Given the description of an element on the screen output the (x, y) to click on. 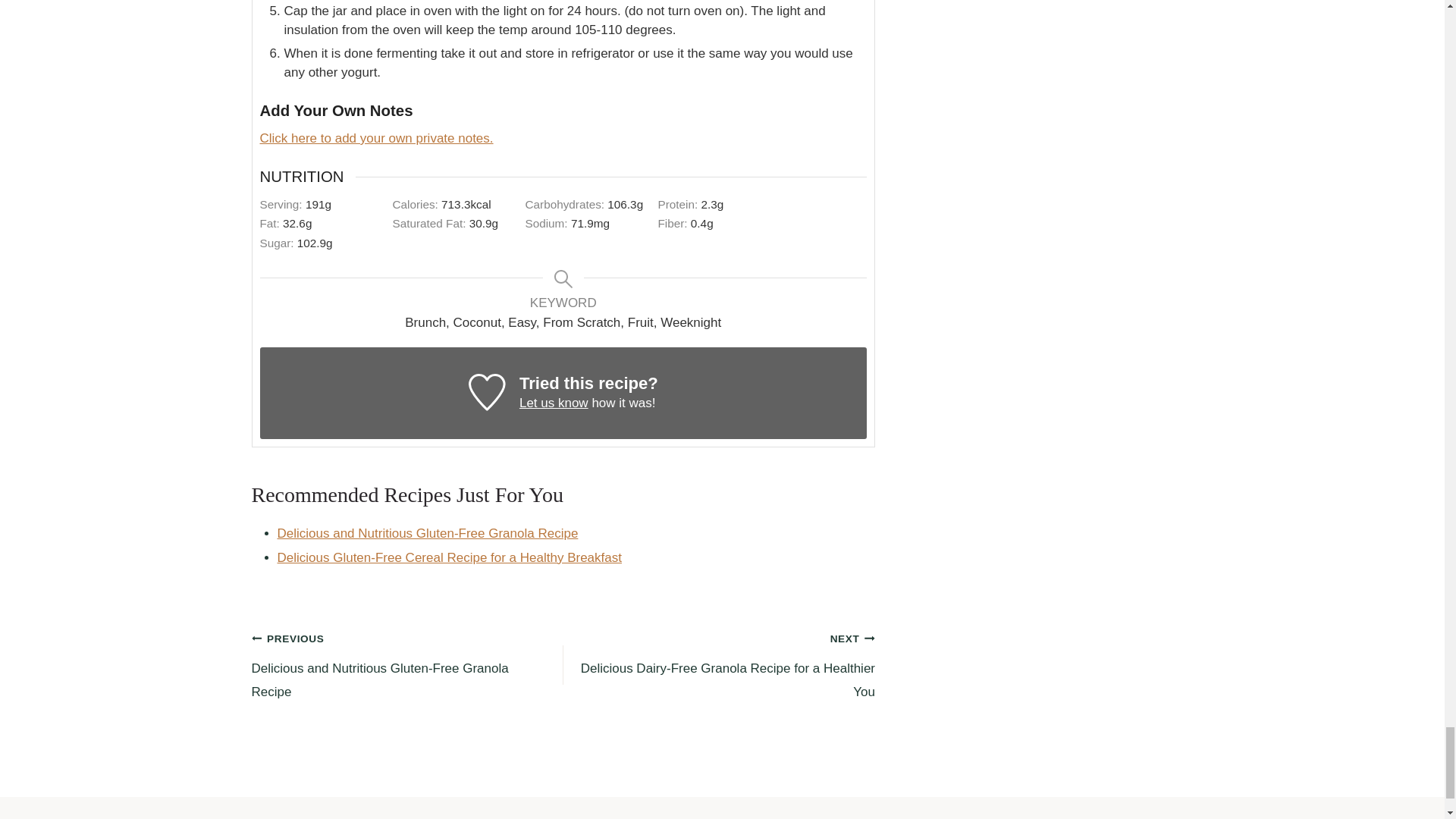
Click here to add your own private notes. (376, 138)
